Given the description of an element on the screen output the (x, y) to click on. 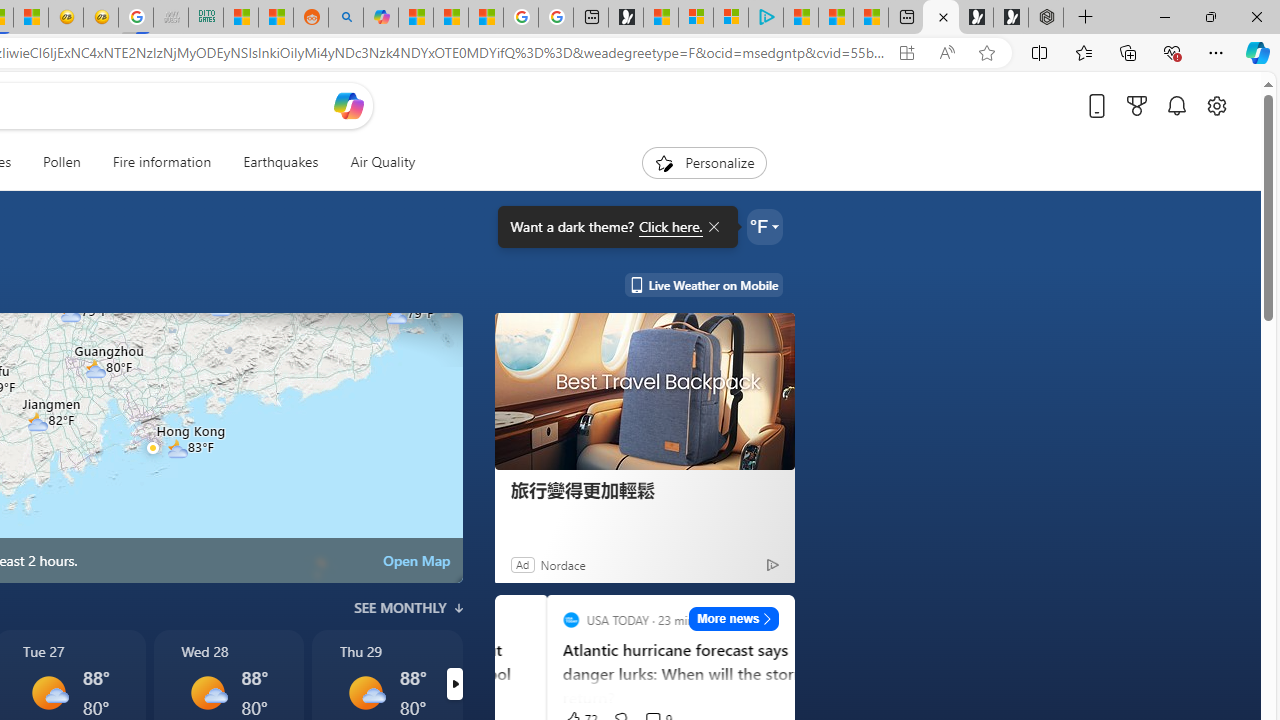
Mostly sunny (365, 692)
Weather settings Want a dark theme?Click here. (764, 226)
Switch right (454, 683)
Utah sues federal government - Search (346, 17)
Fire information (161, 162)
App available. Install Microsoft Start Weather (906, 53)
